Given the description of an element on the screen output the (x, y) to click on. 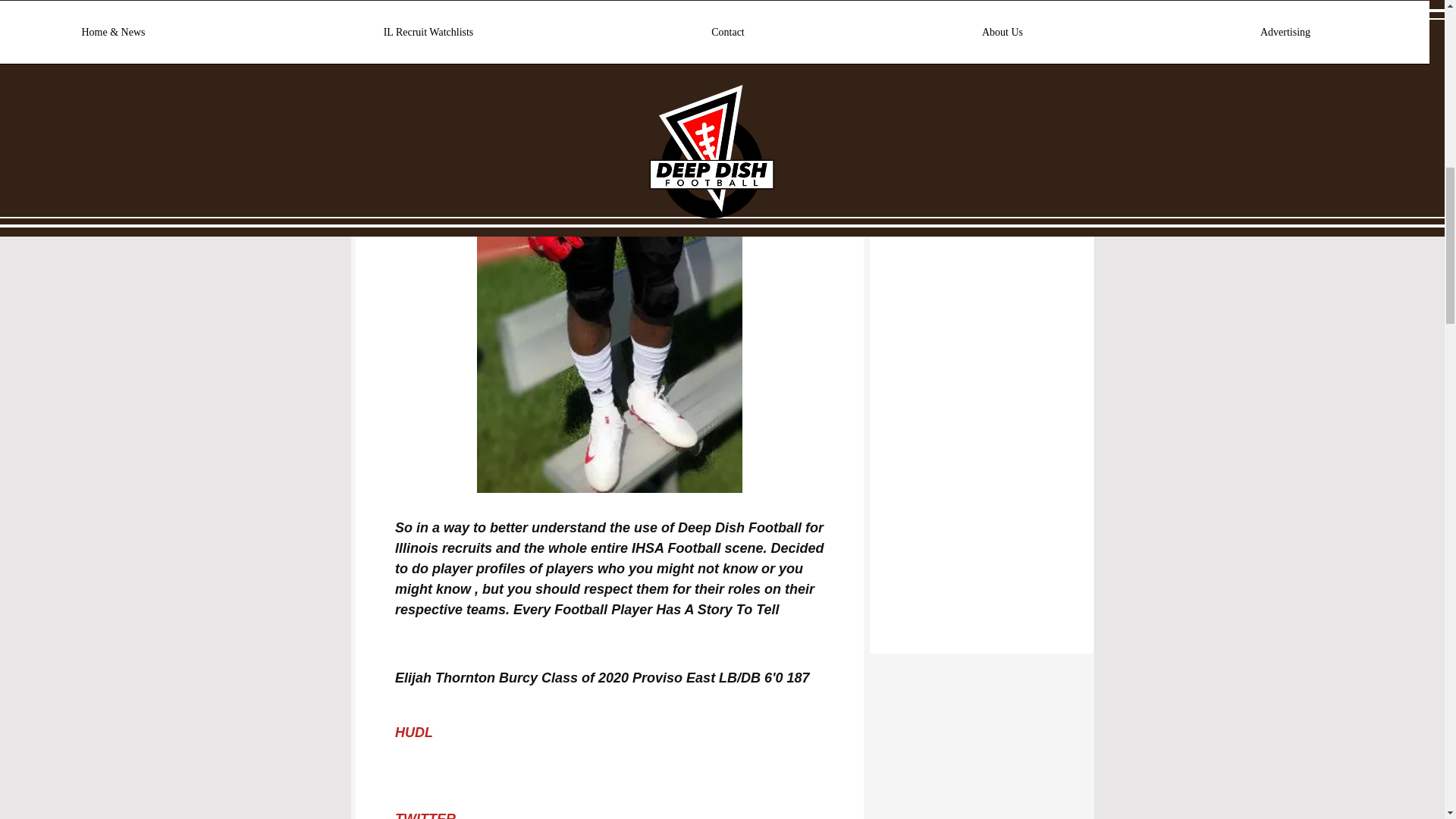
HUDL (413, 732)
TWITTER (424, 815)
